Given the description of an element on the screen output the (x, y) to click on. 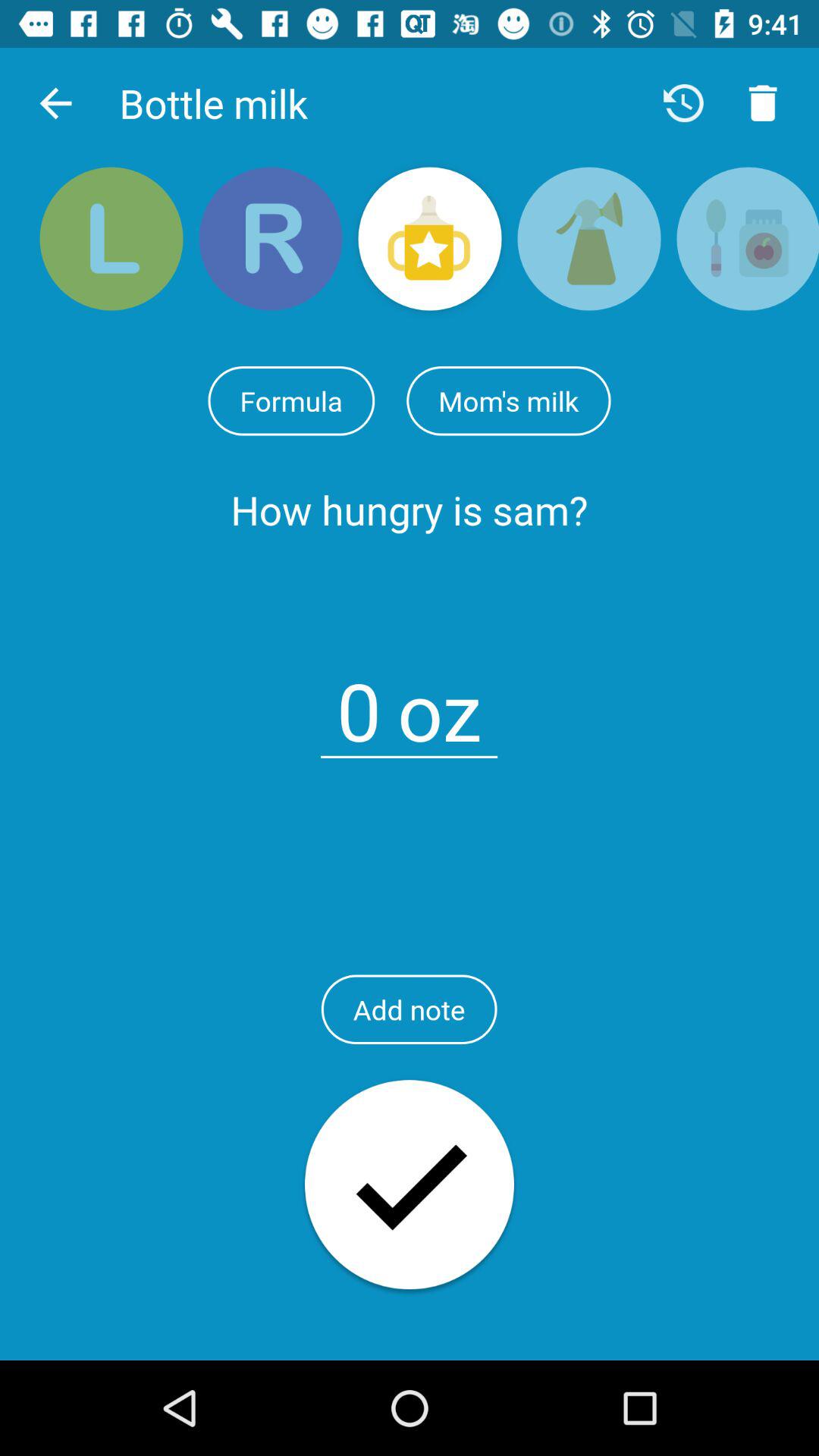
tap the icon to the right of the formula item (508, 400)
